Given the description of an element on the screen output the (x, y) to click on. 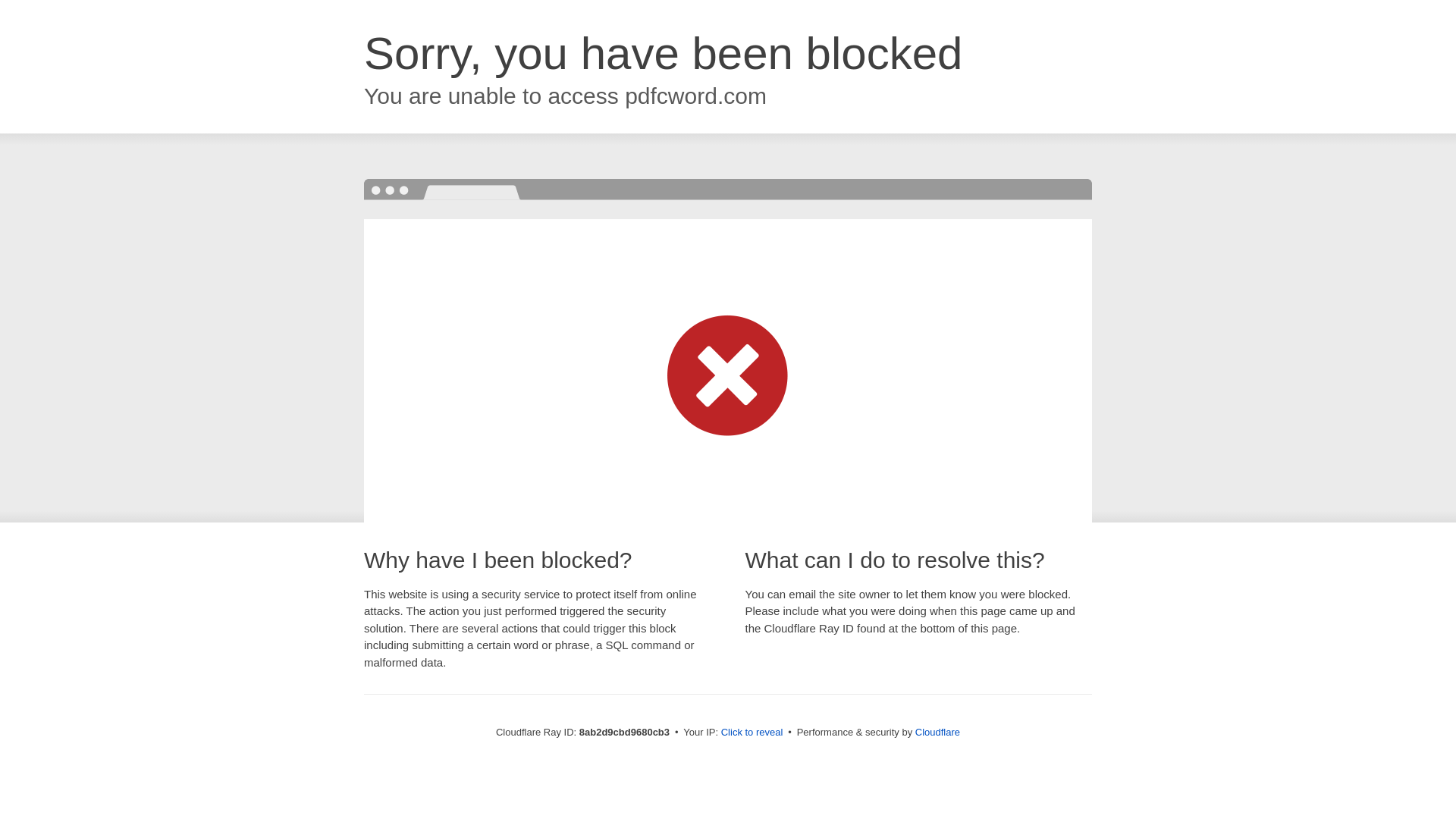
Click to reveal (751, 732)
Cloudflare (937, 731)
